Given the description of an element on the screen output the (x, y) to click on. 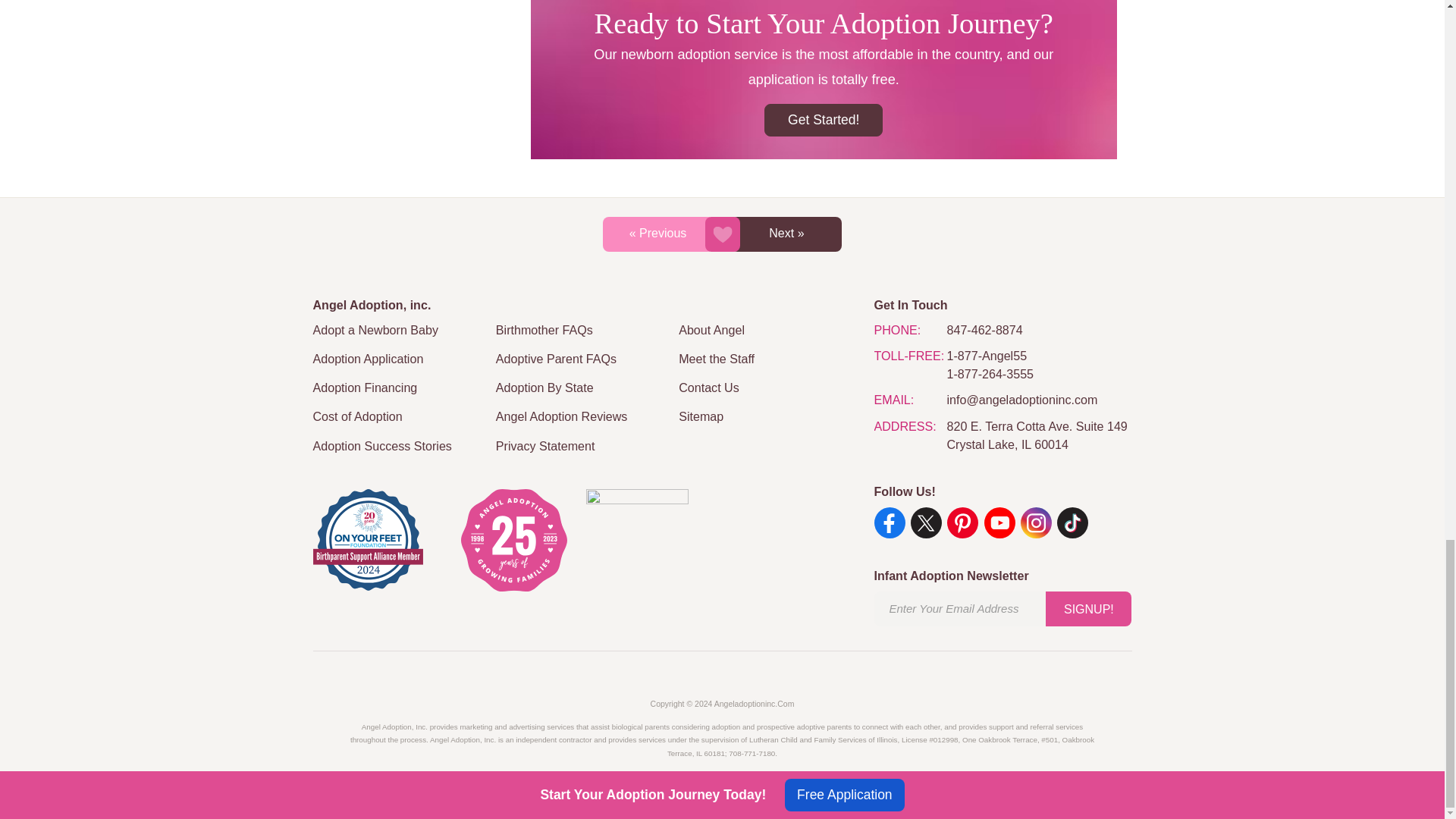
signup! (1088, 608)
